Given the description of an element on the screen output the (x, y) to click on. 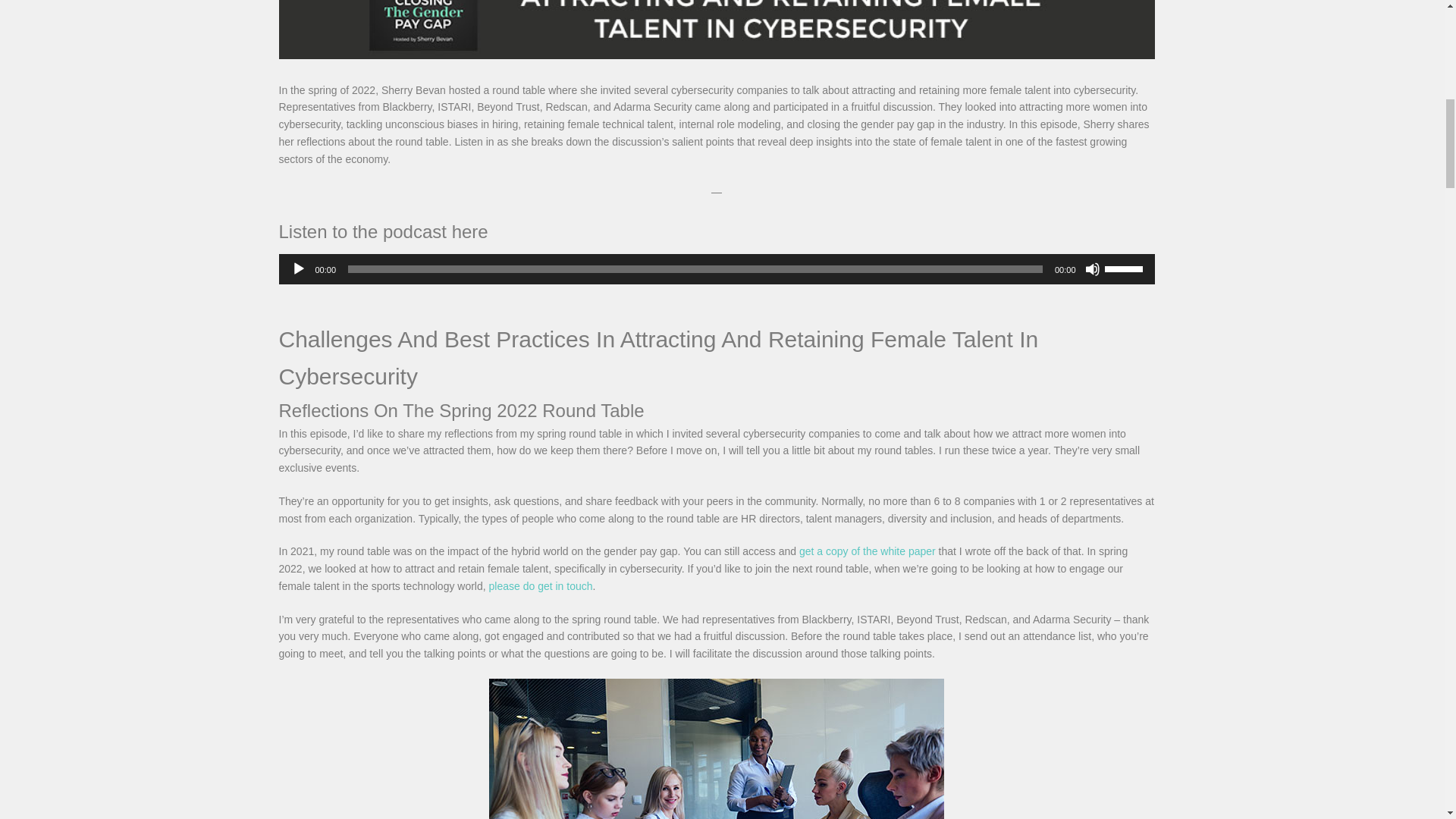
get a copy of the white paper (867, 551)
Play (298, 268)
please do get in touch (540, 585)
Mute (1091, 268)
